Given the description of an element on the screen output the (x, y) to click on. 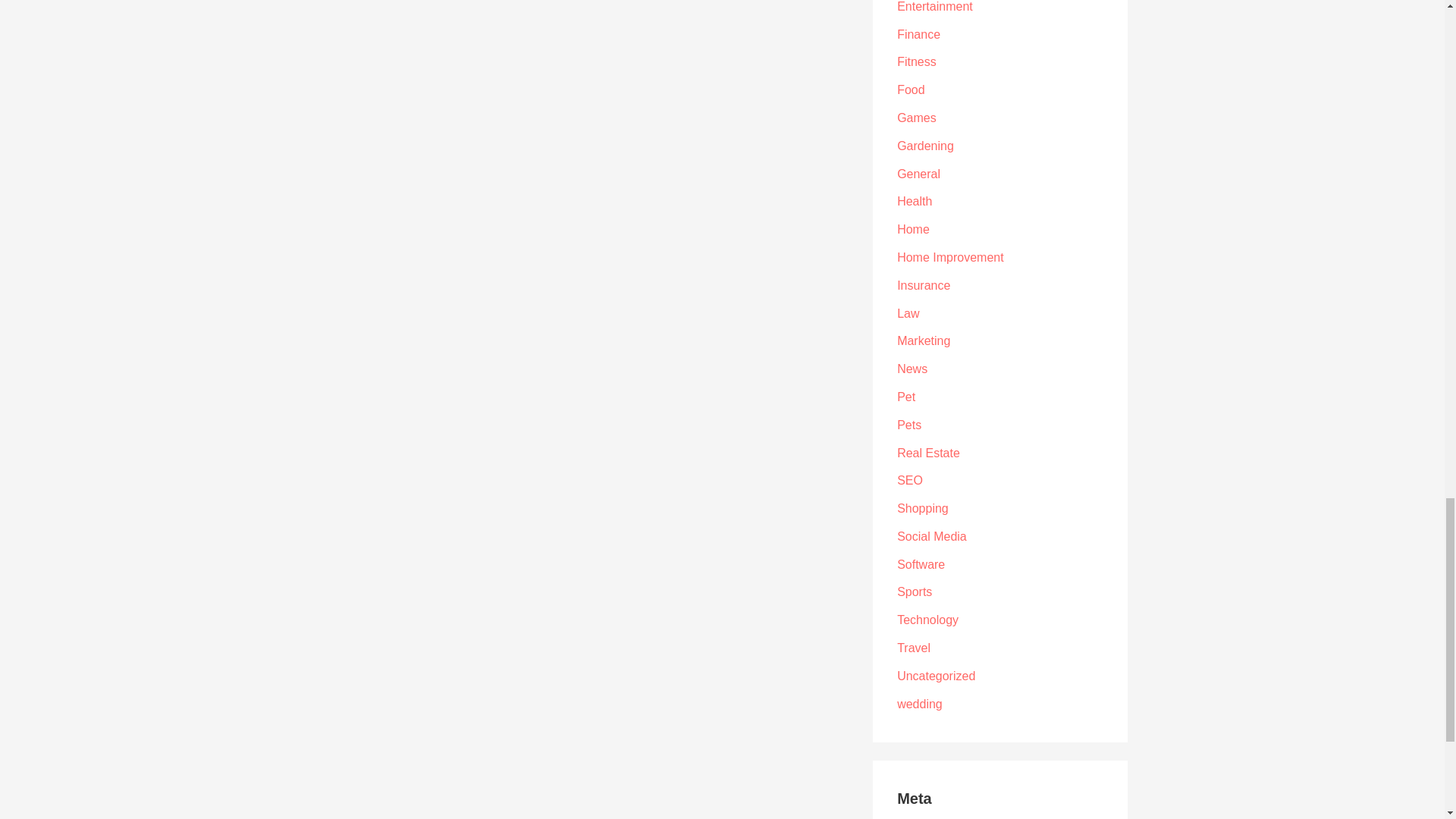
Games (916, 117)
Fitness (916, 61)
Food (910, 89)
Finance (918, 33)
Entertainment (934, 6)
Health (913, 201)
General (918, 173)
Home (913, 228)
Gardening (924, 145)
